Given the description of an element on the screen output the (x, y) to click on. 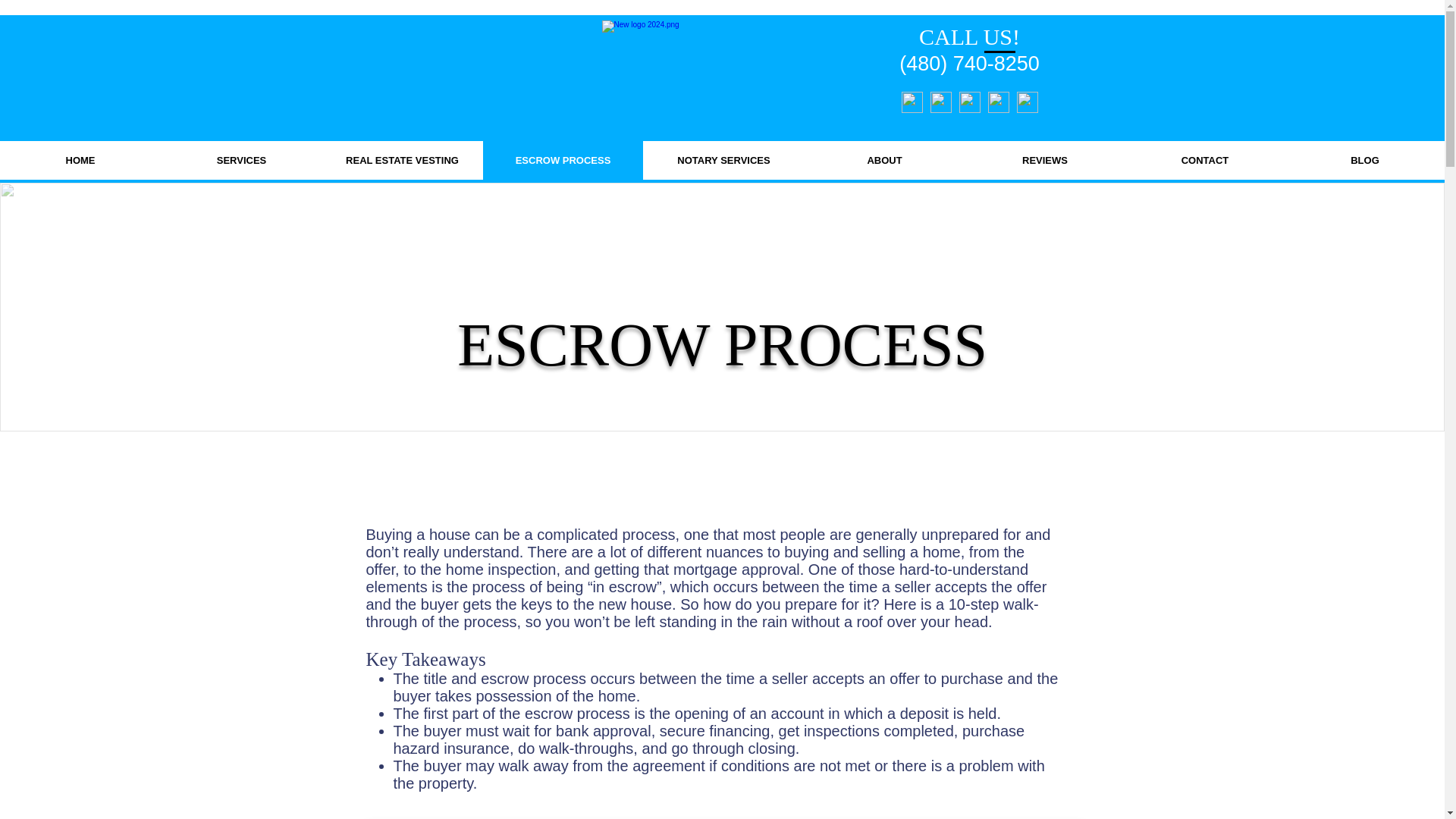
ESCROW PROCESS (562, 159)
REAL ESTATE VESTING (401, 159)
CONTACT (1204, 159)
NOTARY SERVICES (723, 159)
REVIEWS (1043, 159)
ABOUT (883, 159)
HOME (80, 159)
CALL US! (969, 36)
SERVICES (240, 159)
